Given the description of an element on the screen output the (x, y) to click on. 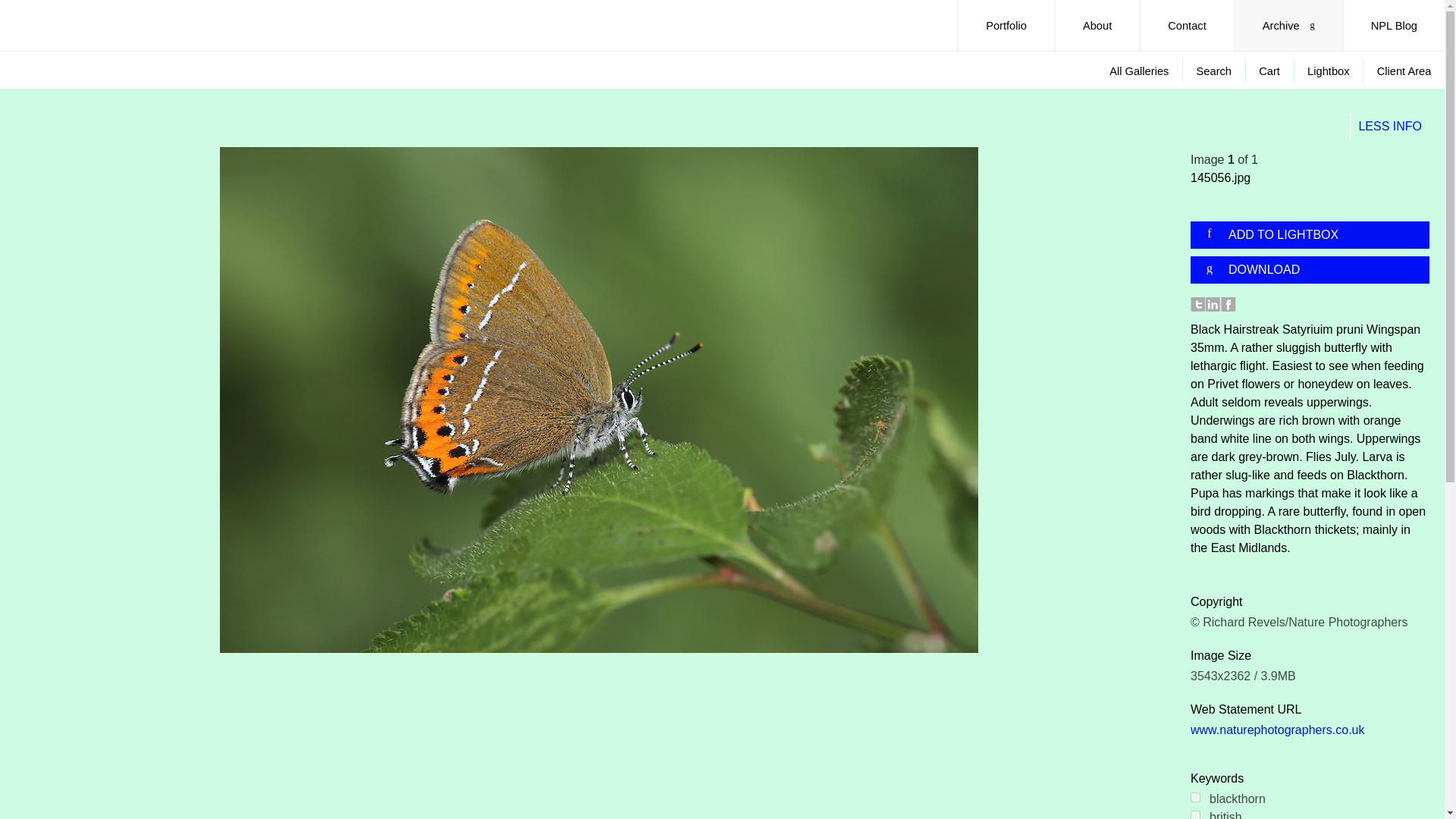
Lightbox (1328, 70)
Info (1390, 126)
blackthorn (1195, 797)
www.naturephotographers.co.uk (1277, 729)
All Galleries (1139, 70)
Contact (1186, 25)
Nature Photographers Ltd (86, 24)
ADD TO LIGHTBOX (1316, 234)
DOWNLOAD (1316, 269)
Nature Photographers Ltd (86, 24)
